Given the description of an element on the screen output the (x, y) to click on. 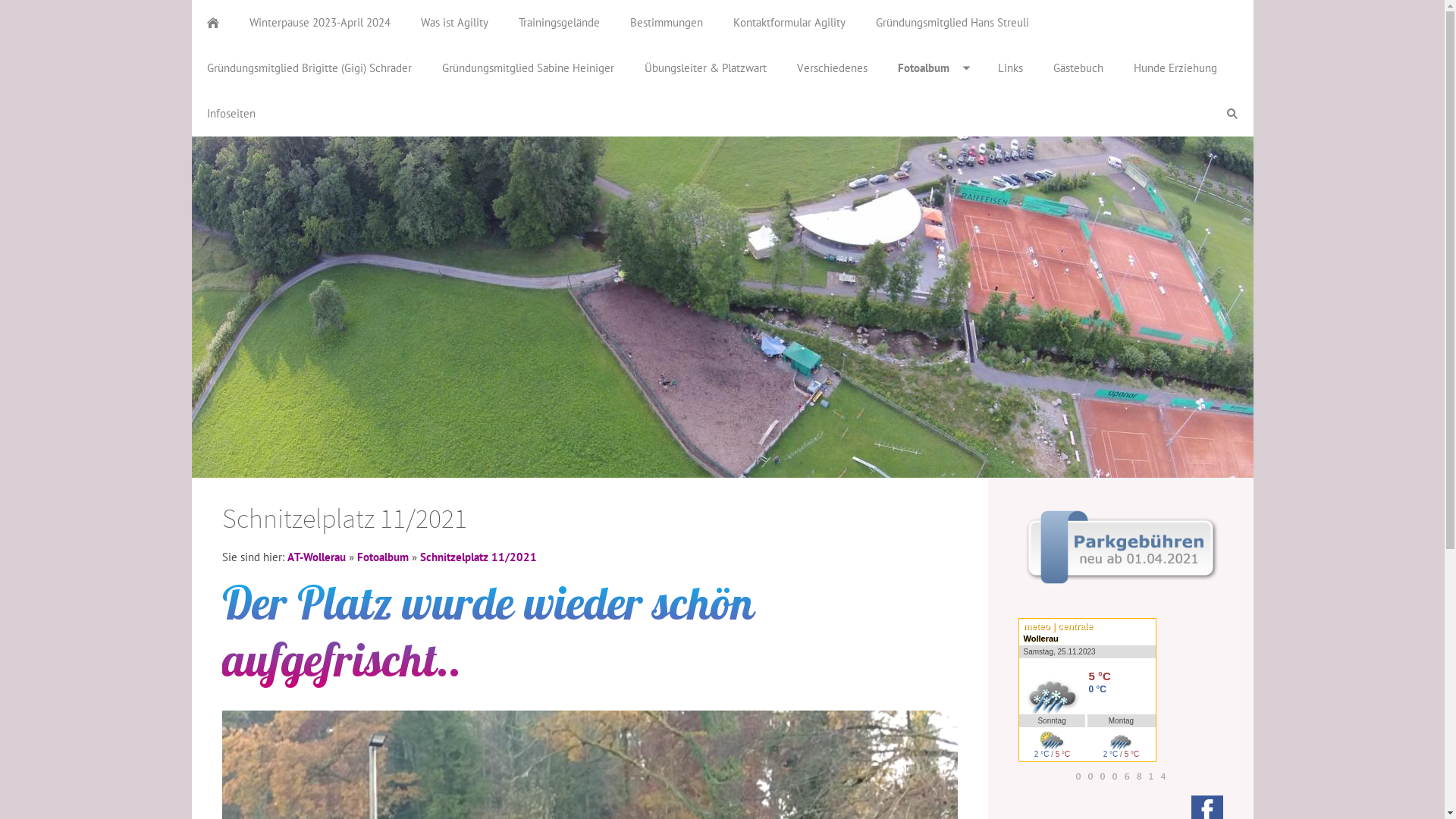
Verschiedenes Element type: text (831, 68)
Kontaktformular Agility Element type: text (788, 22)
Bestimmungen Element type: text (665, 22)
Schnitzelplatz 11/2021 Element type: text (478, 556)
Wollerau Element type: text (1040, 638)
AT-Wollerau Element type: text (315, 556)
Fotoalbum Element type: text (381, 556)
meteo | centrale Element type: text (1087, 625)
Infoseiten Element type: text (230, 113)
Hunde Erziehung Element type: text (1174, 68)
Was ist Agility Element type: text (453, 22)
Winterpause 2023-April 2024 Element type: text (318, 22)
Links Element type: text (1010, 68)
Fotoalbum Element type: text (932, 68)
